Given the description of an element on the screen output the (x, y) to click on. 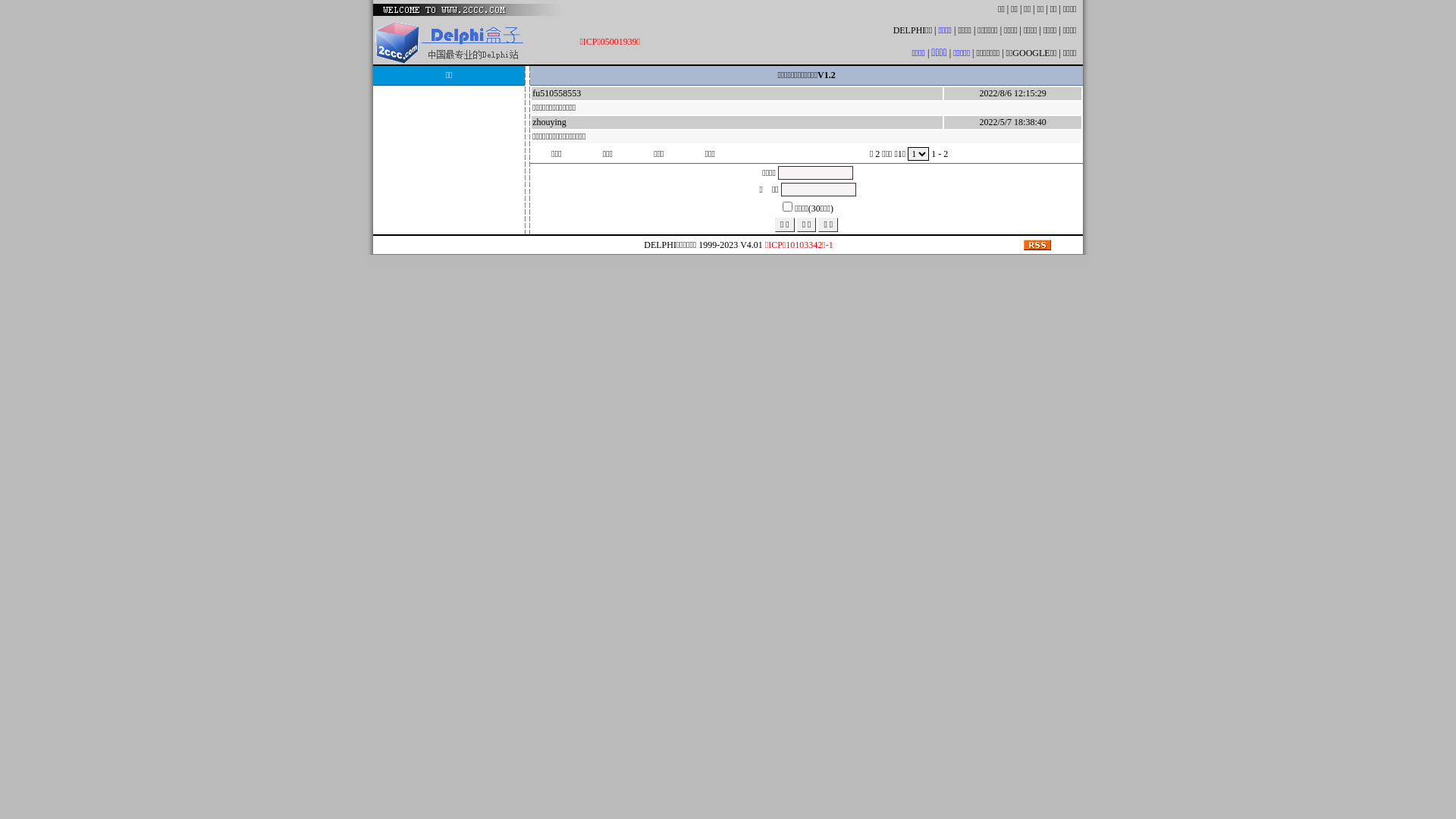
fu510558553 Element type: text (556, 92)
zhouying Element type: text (549, 121)
